Given the description of an element on the screen output the (x, y) to click on. 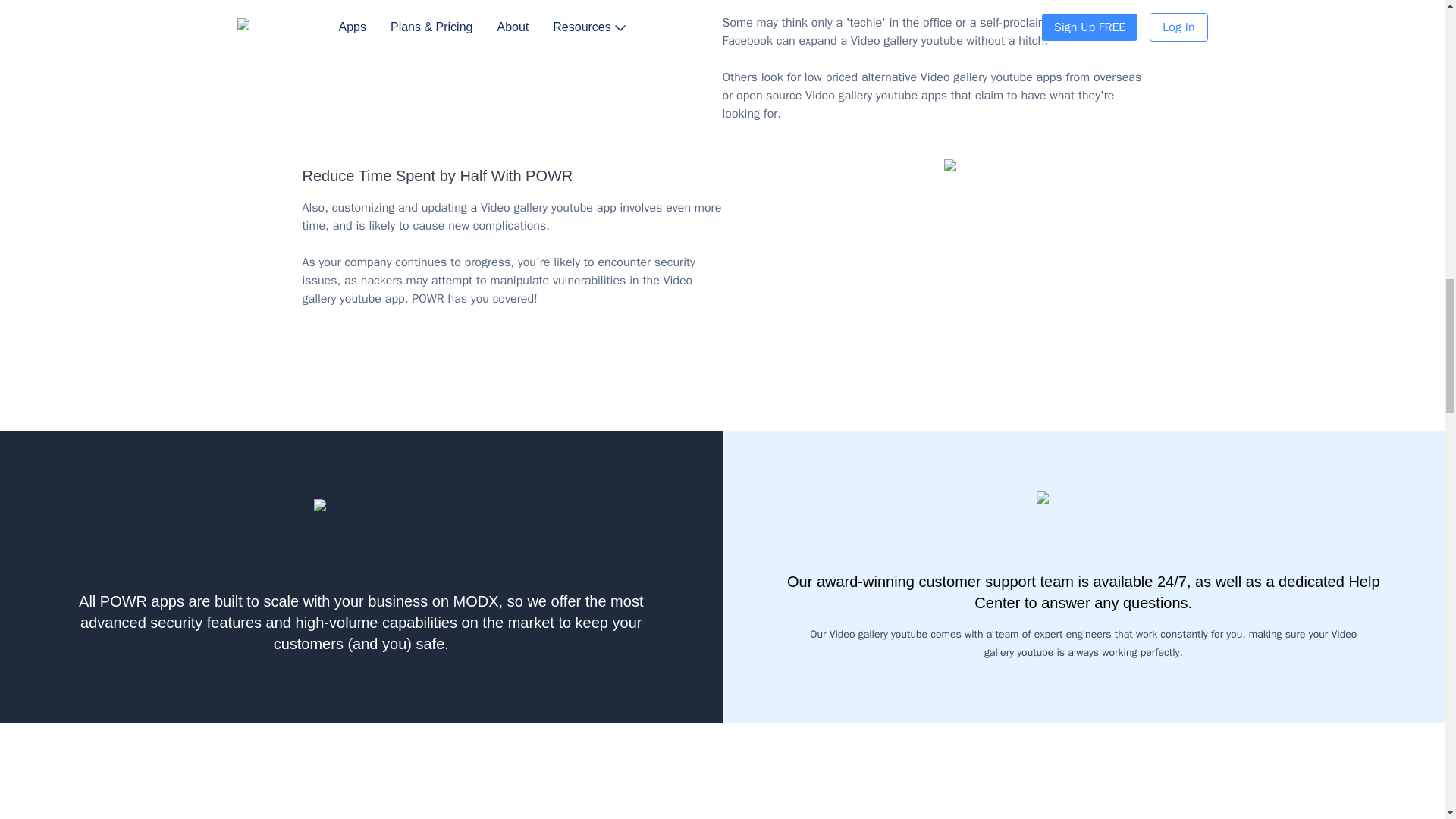
Help Center (1176, 591)
